Given the description of an element on the screen output the (x, y) to click on. 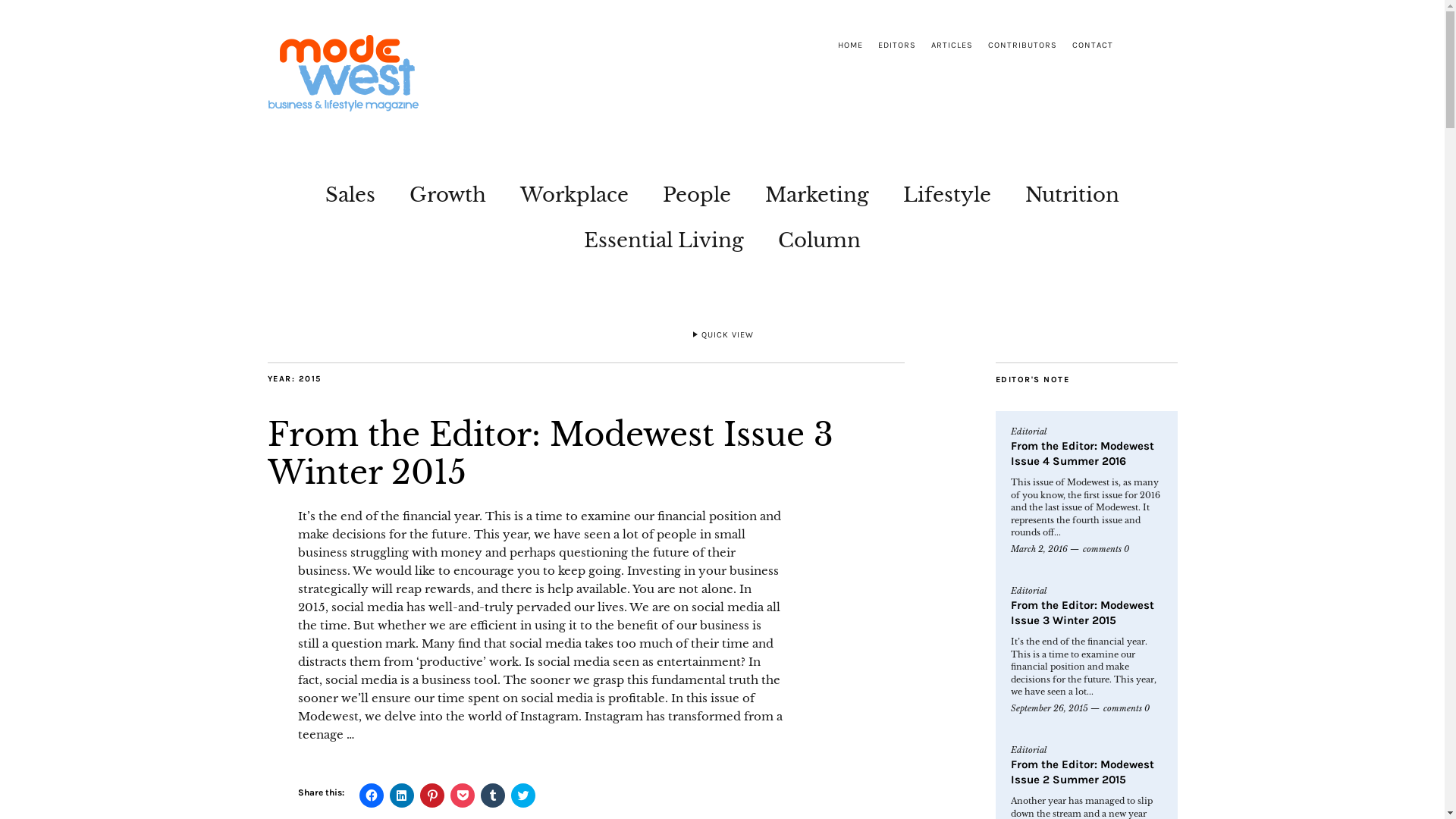
Workplace Element type: text (574, 191)
Click to share on Pinterest (Opens in new window) Element type: text (432, 795)
Click to share on Facebook (Opens in new window) Element type: text (371, 795)
From the Editor: Modewest Issue 2 Summer 2015 Element type: text (1081, 772)
Column Element type: text (819, 236)
Sales Element type: text (350, 191)
comments 0 Element type: text (1105, 549)
Essential Living Element type: text (663, 236)
HOME Element type: text (849, 45)
From the Editor: Modewest Issue 4 Summer 2016 Element type: text (1081, 453)
People Element type: text (696, 191)
comments 0 Element type: text (1125, 708)
Editorial Element type: text (1027, 590)
Lifestyle Element type: text (947, 191)
From the Editor: Modewest Issue 3 Winter 2015 Element type: text (1081, 612)
ARTICLES Element type: text (951, 45)
Marketing Element type: text (817, 191)
Click to share on LinkedIn (Opens in new window) Element type: text (401, 795)
September 26, 2015 Element type: text (1048, 708)
Click to share on Twitter (Opens in new window) Element type: text (523, 795)
March 2, 2016 Element type: text (1038, 549)
EDITORS Element type: text (897, 45)
Nutrition Element type: text (1072, 191)
Editorial Element type: text (1027, 750)
Click to share on Tumblr (Opens in new window) Element type: text (492, 795)
Editorial Element type: text (1027, 431)
From the Editor: Modewest Issue 3 Winter 2015 Element type: text (549, 453)
CONTACT Element type: text (1092, 45)
Growth Element type: text (447, 191)
CONTRIBUTORS Element type: text (1021, 45)
Click to share on Pocket (Opens in new window) Element type: text (462, 795)
QUICK VIEW Element type: text (721, 337)
